Given the description of an element on the screen output the (x, y) to click on. 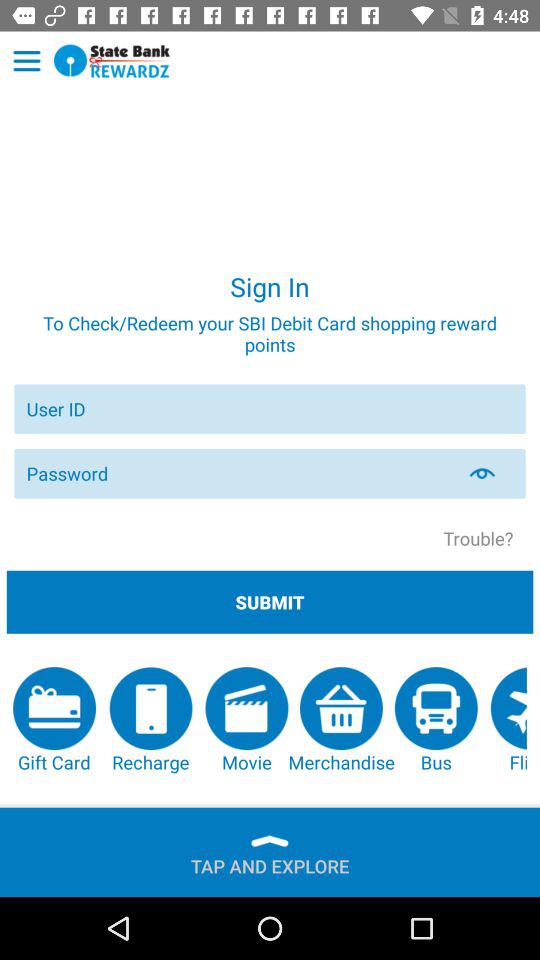
open a webpage (112, 60)
